Given the description of an element on the screen output the (x, y) to click on. 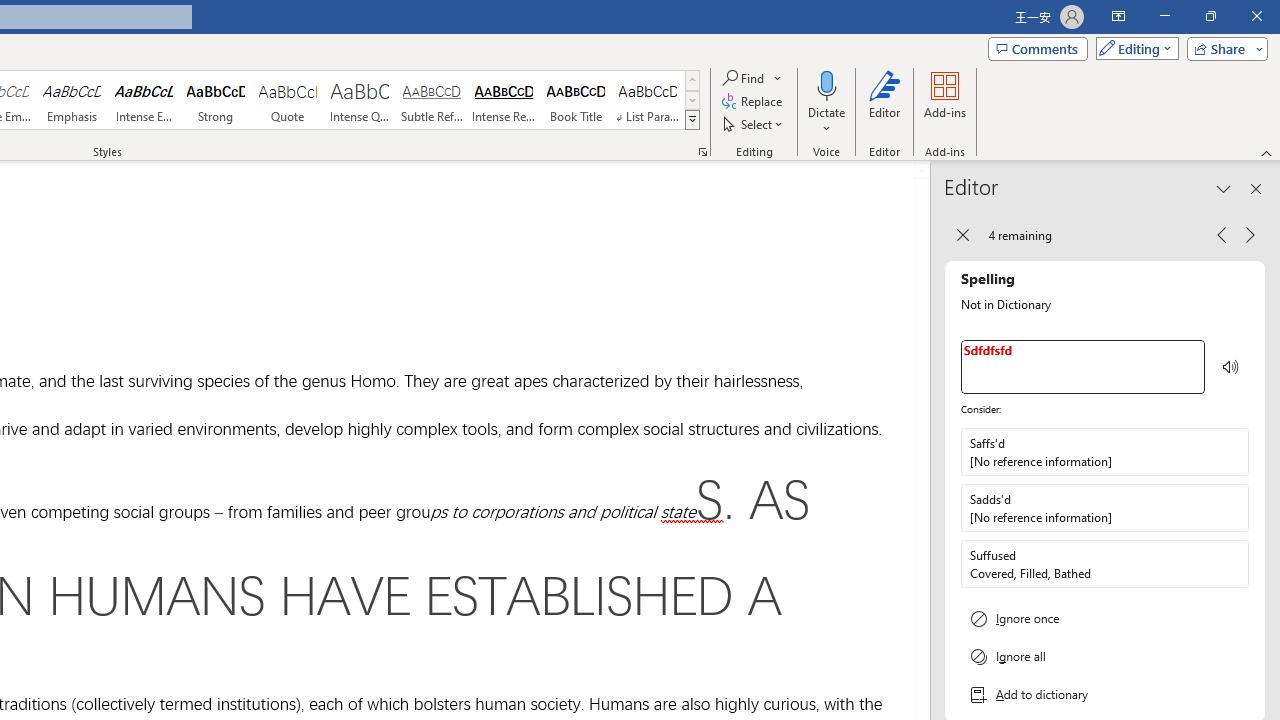
Comments (1038, 48)
Next Issue, 4 remaining (1250, 234)
Editor (885, 102)
Intense Quote (359, 100)
Find (744, 78)
Task Pane Options (1224, 188)
Ignore once (1105, 618)
Collapse the Ribbon (1267, 152)
Add to dictionary (1105, 695)
Book Title (575, 100)
Replace... (753, 101)
Strong (216, 100)
